Given the description of an element on the screen output the (x, y) to click on. 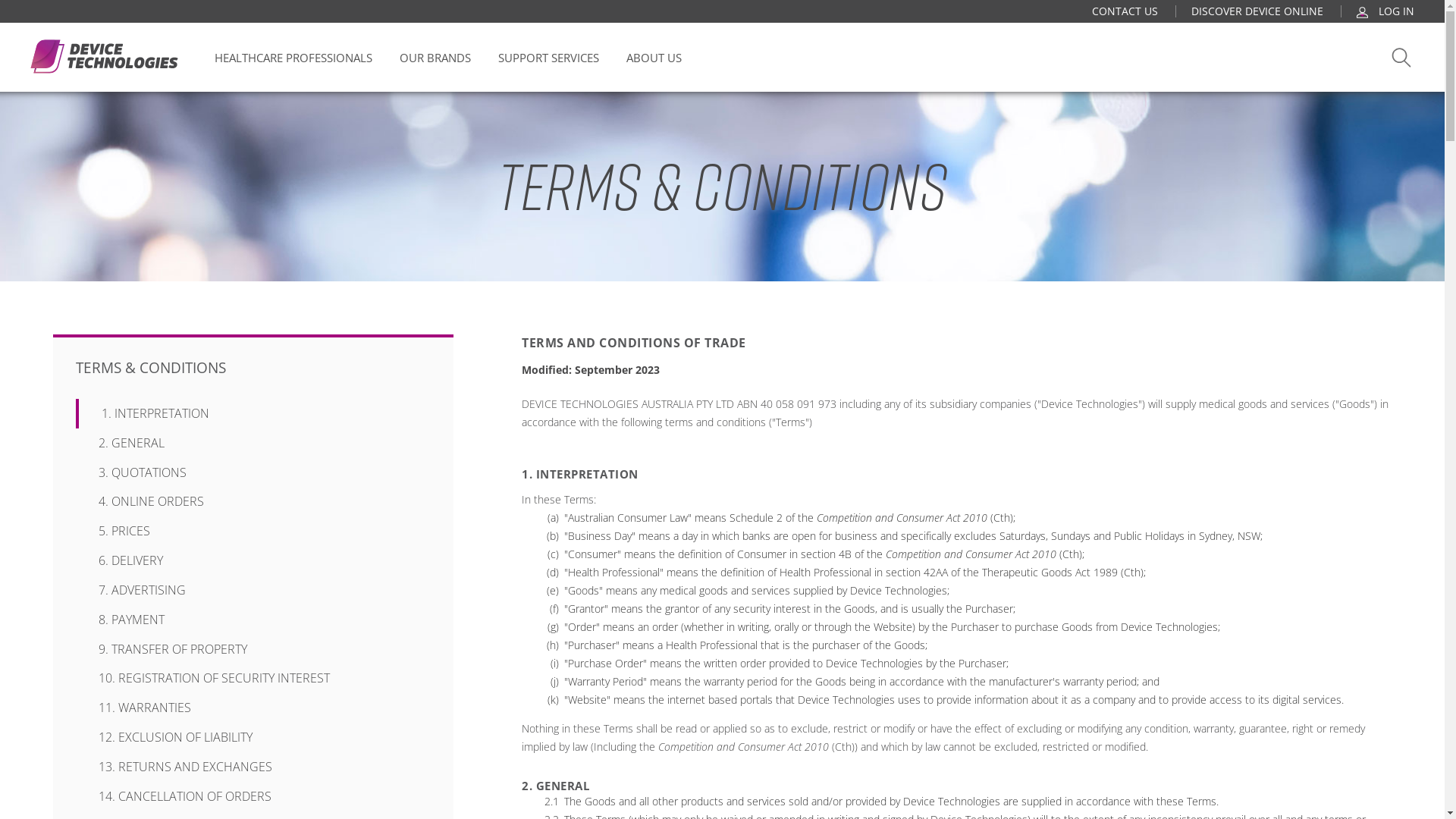
9. TRANSFER OF PROPERTY Element type: text (252, 649)
14. CANCELLATION OF ORDERS Element type: text (252, 796)
2. GENERAL Element type: text (252, 443)
11. WARRANTIES Element type: text (252, 707)
1. INTERPRETATION Element type: text (254, 413)
5. PRICES Element type: text (252, 531)
LOG IN Element type: text (1385, 10)
HEALTHCARE PROFESSIONALS Element type: text (293, 56)
10. REGISTRATION OF SECURITY INTEREST Element type: text (252, 678)
ABOUT US Element type: text (653, 56)
SUPPORT SERVICES Element type: text (548, 56)
13. RETURNS AND EXCHANGES Element type: text (252, 766)
OUR BRANDS Element type: text (434, 56)
6. DELIVERY Element type: text (252, 560)
CONTACT US Element type: text (1124, 10)
7. ADVERTISING Element type: text (252, 590)
12. EXCLUSION OF LIABILITY Element type: text (252, 737)
3. QUOTATIONS Element type: text (252, 472)
8. PAYMENT Element type: text (252, 619)
DISCOVER DEVICE ONLINE Element type: text (1257, 10)
4. ONLINE ORDERS Element type: text (252, 501)
